Given the description of an element on the screen output the (x, y) to click on. 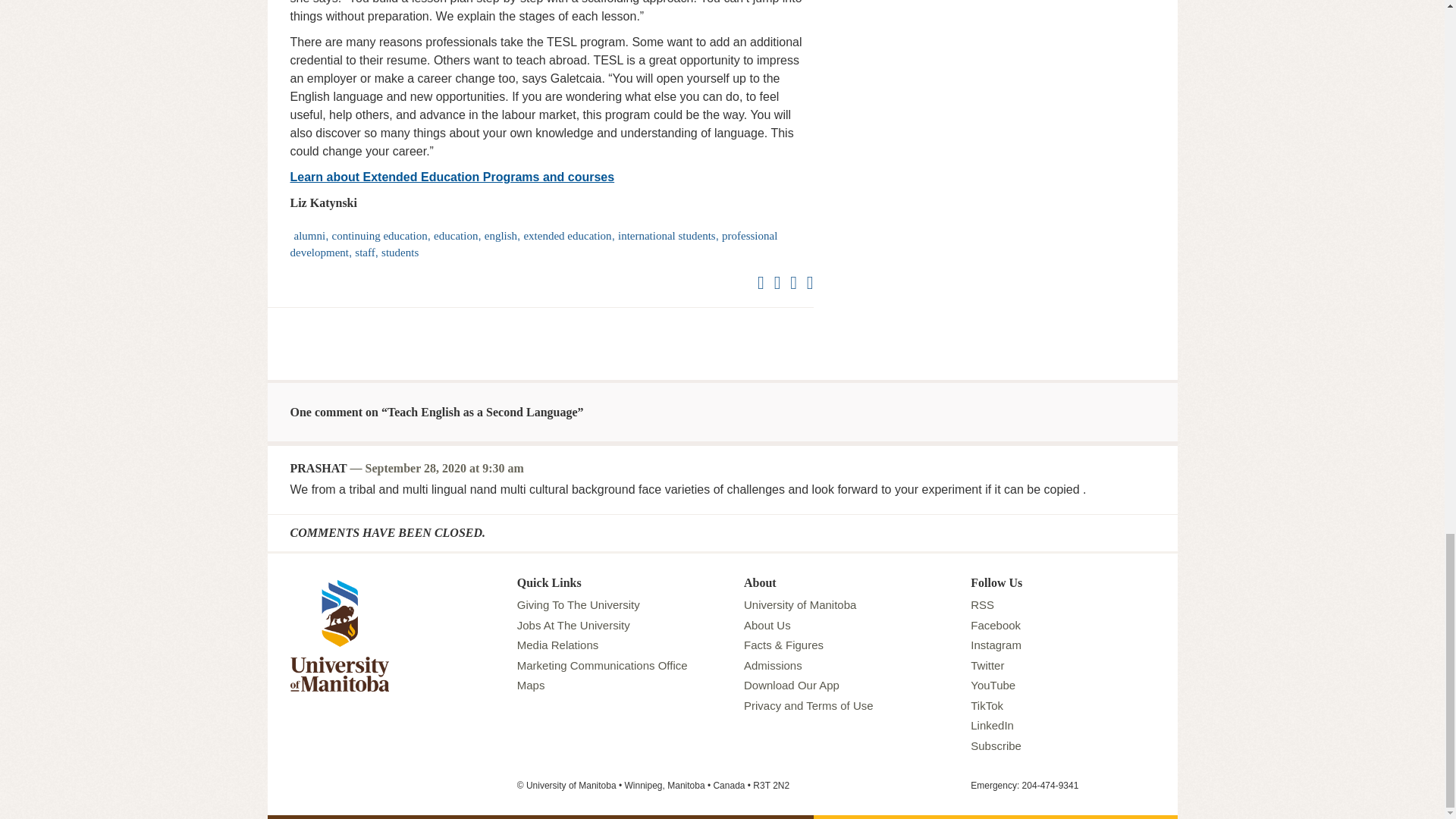
University of Manitoba (338, 581)
